Given the description of an element on the screen output the (x, y) to click on. 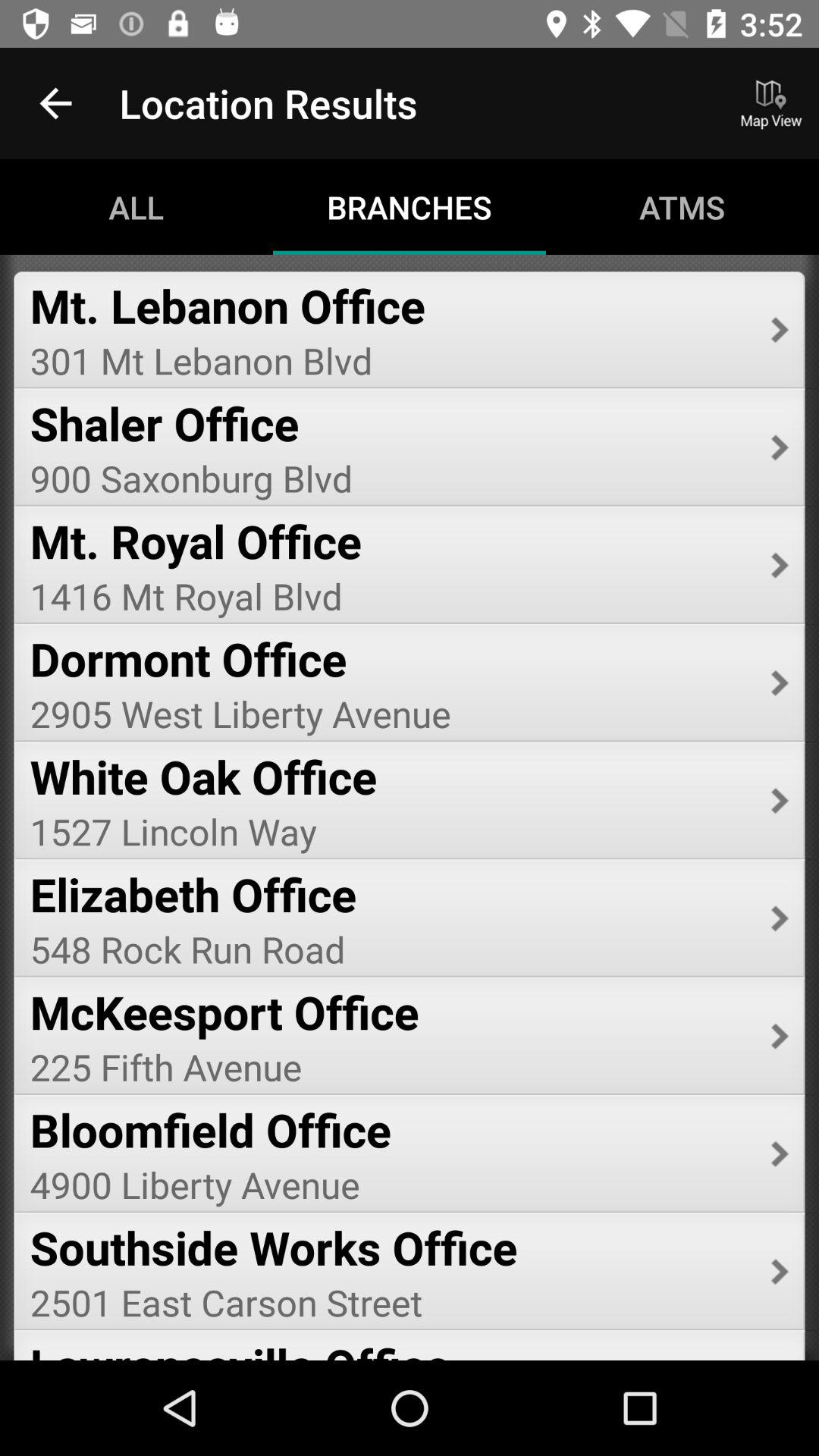
press icon below shaler office item (390, 477)
